Given the description of an element on the screen output the (x, y) to click on. 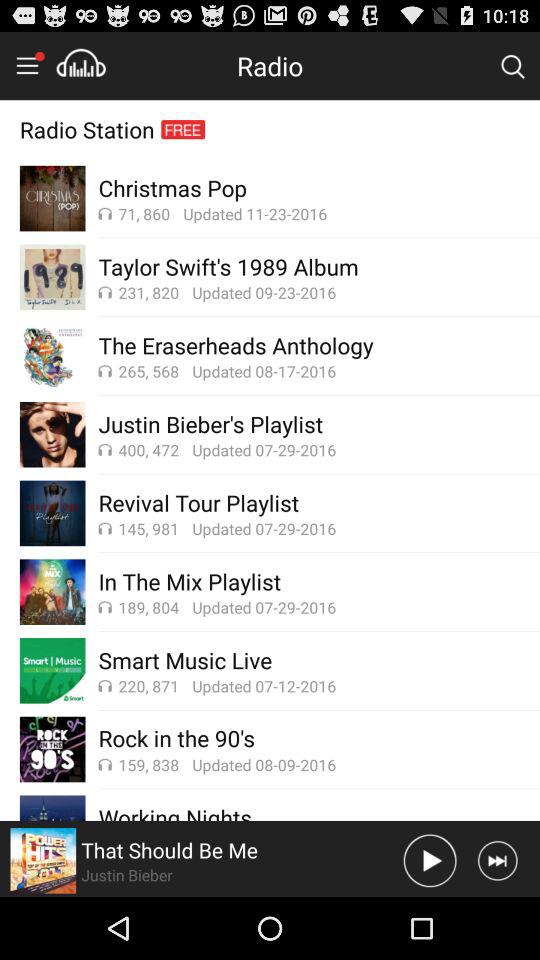
play next (497, 860)
